Given the description of an element on the screen output the (x, y) to click on. 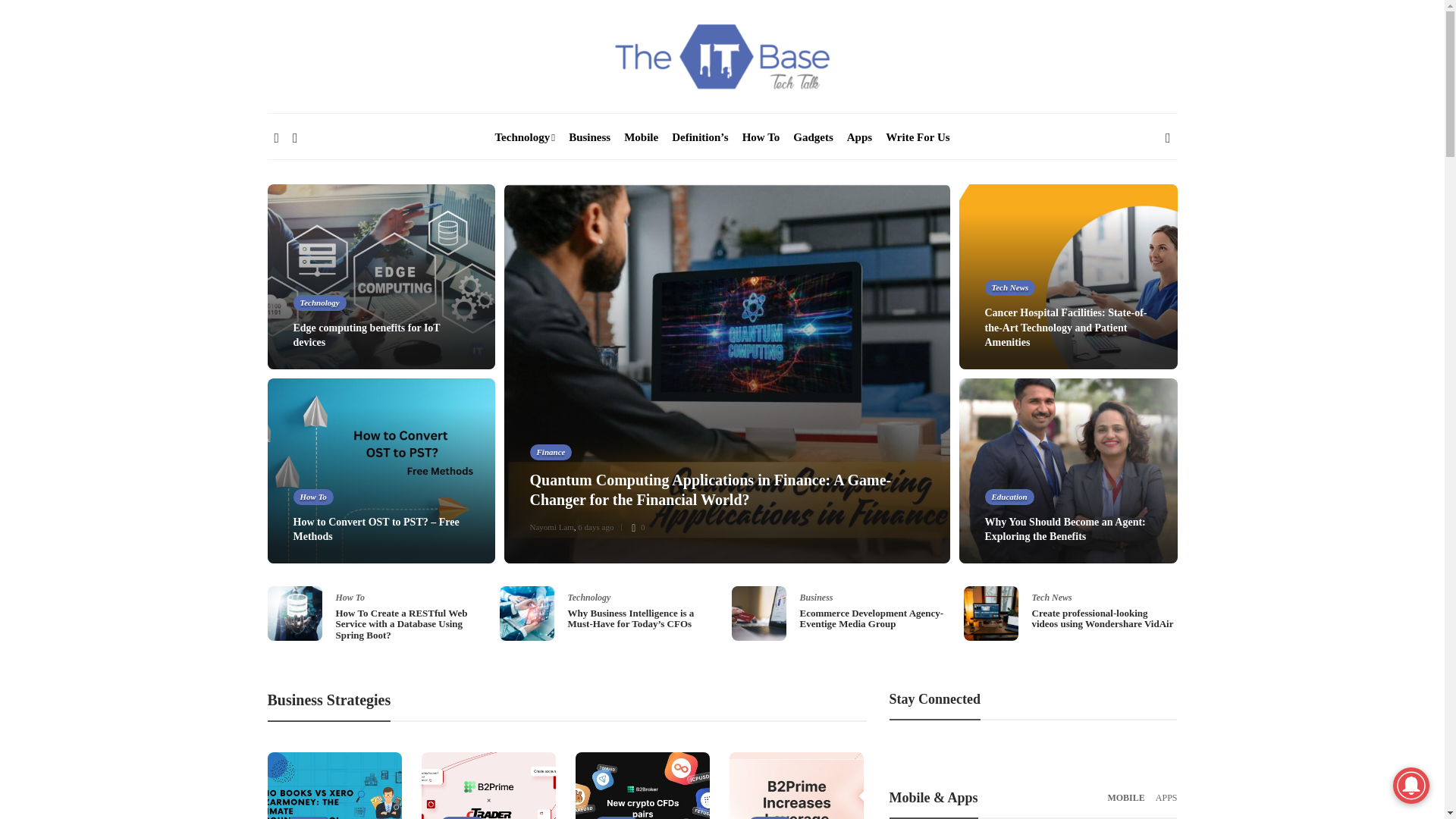
Technology (524, 135)
Business (589, 135)
